Given the description of an element on the screen output the (x, y) to click on. 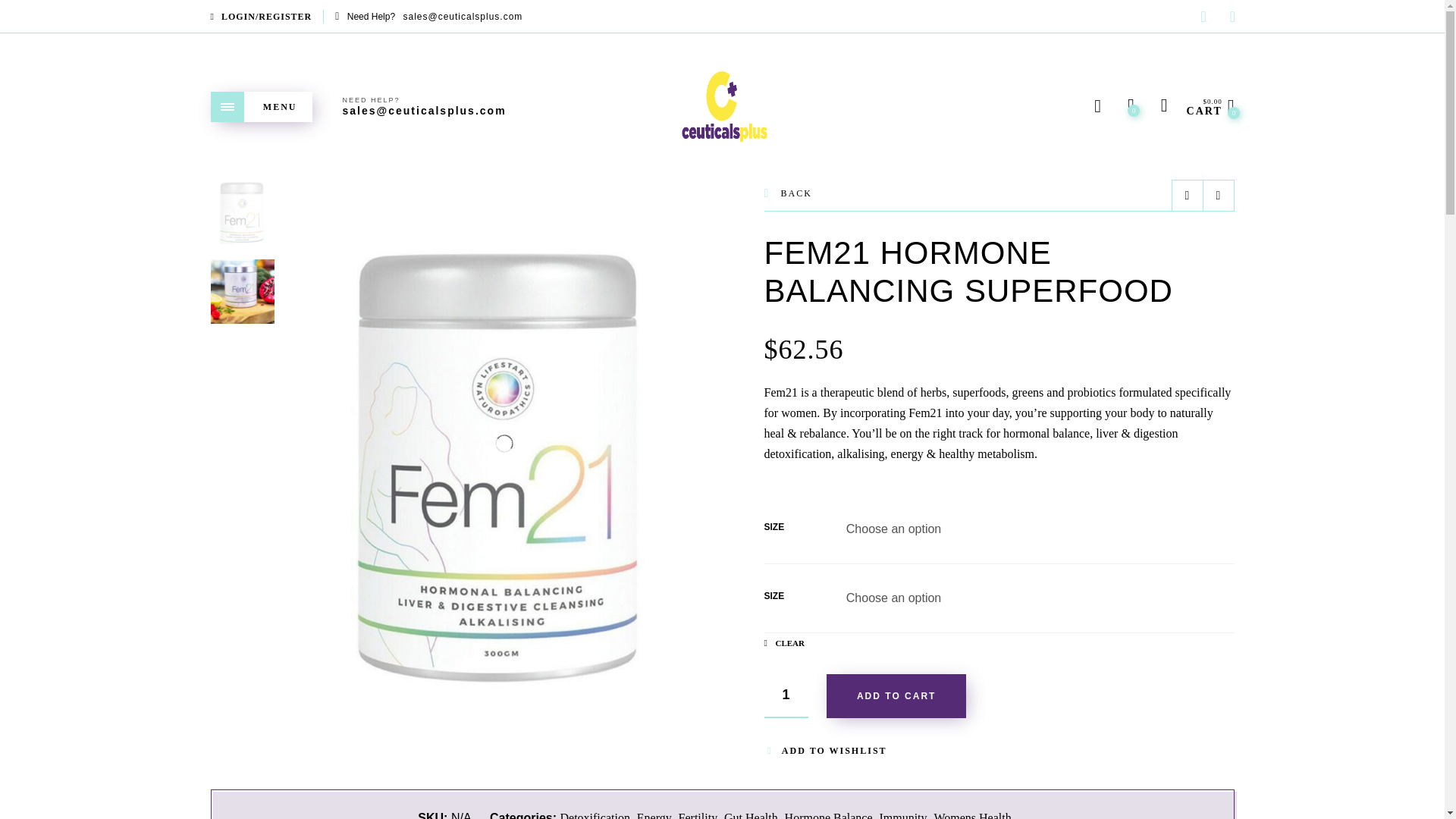
Facebook (1203, 17)
ADD TO WISHLIST (825, 750)
Womens Health (971, 815)
Immunity (902, 815)
Previous product (1187, 195)
Qty (786, 696)
Gut Health (750, 815)
CLEAR (784, 643)
Energy (654, 815)
Detoxification (593, 815)
